Given the description of an element on the screen output the (x, y) to click on. 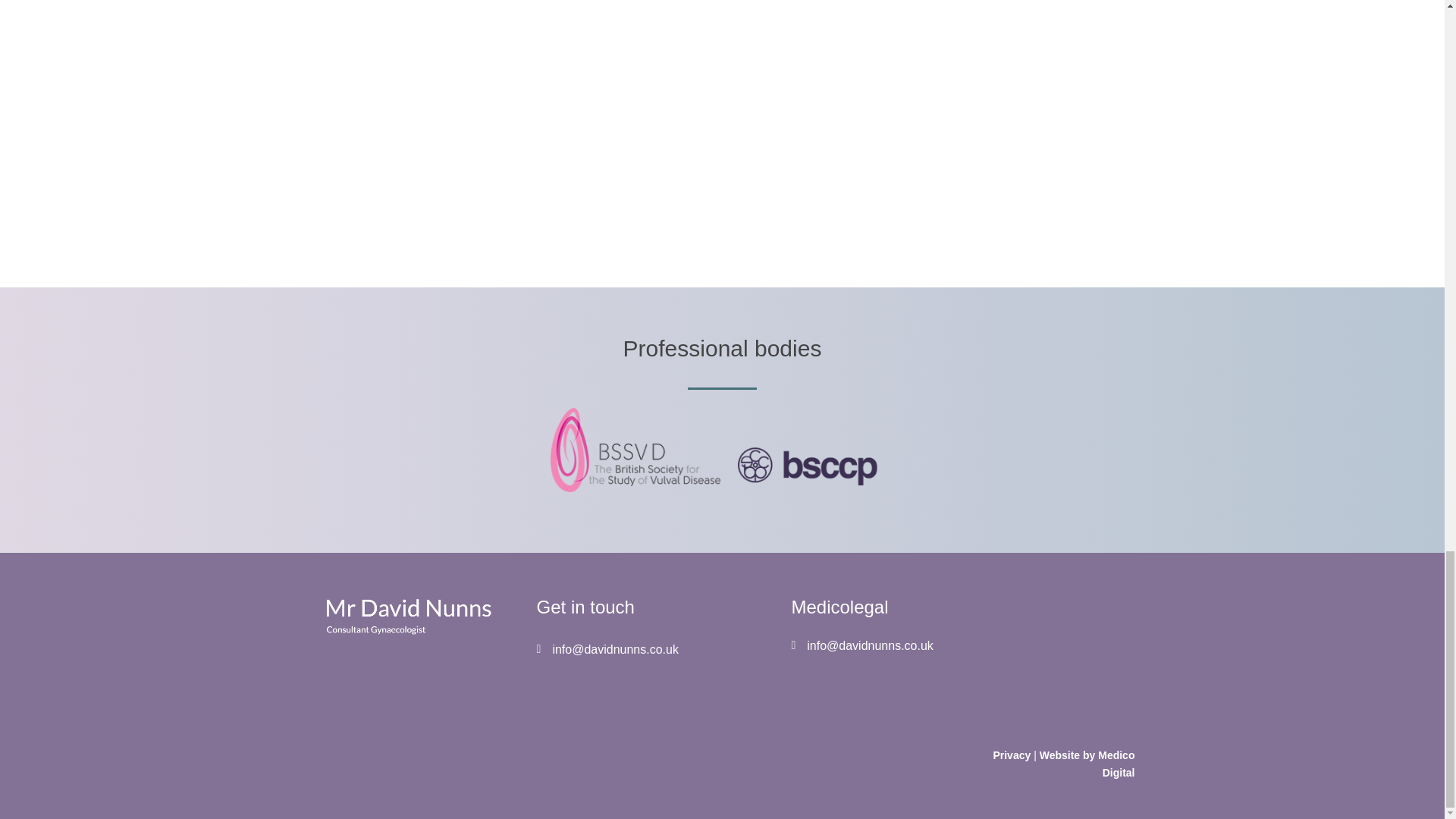
Privacy (1011, 755)
Mr-David-Nunns-logo-white (406, 616)
Website by Medico Digital (1087, 763)
